Given the description of an element on the screen output the (x, y) to click on. 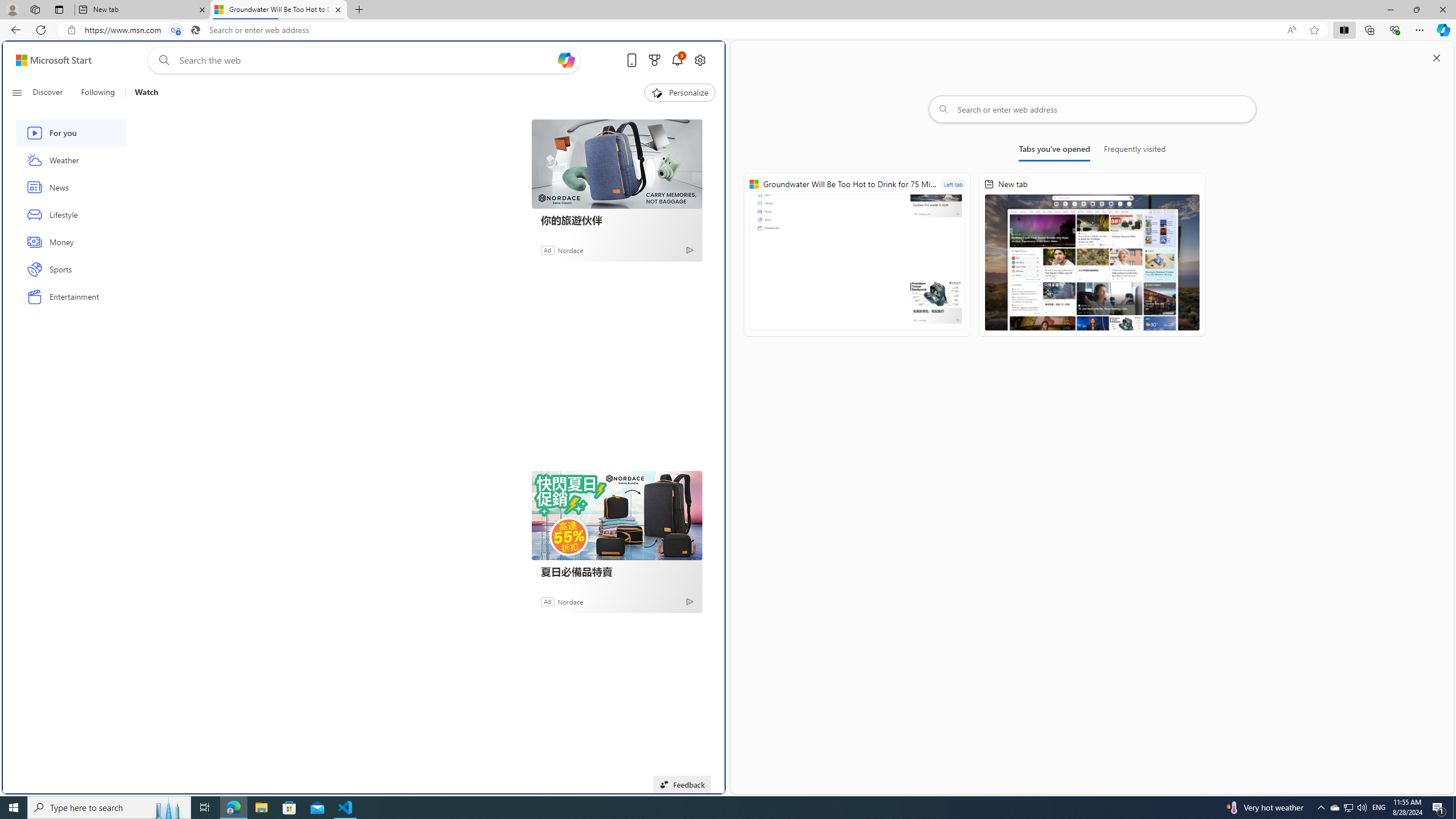
Skip to footer (46, 59)
Notifications (676, 60)
Discover (52, 92)
View site information (70, 29)
Ad (547, 601)
Watch (145, 92)
Nordace (570, 601)
Personal Profile (12, 9)
Search icon (195, 29)
Back (13, 29)
Minimize (1390, 9)
Close (1442, 9)
Tabs you've opened (1054, 151)
Watch (141, 92)
Open settings (699, 60)
